Given the description of an element on the screen output the (x, y) to click on. 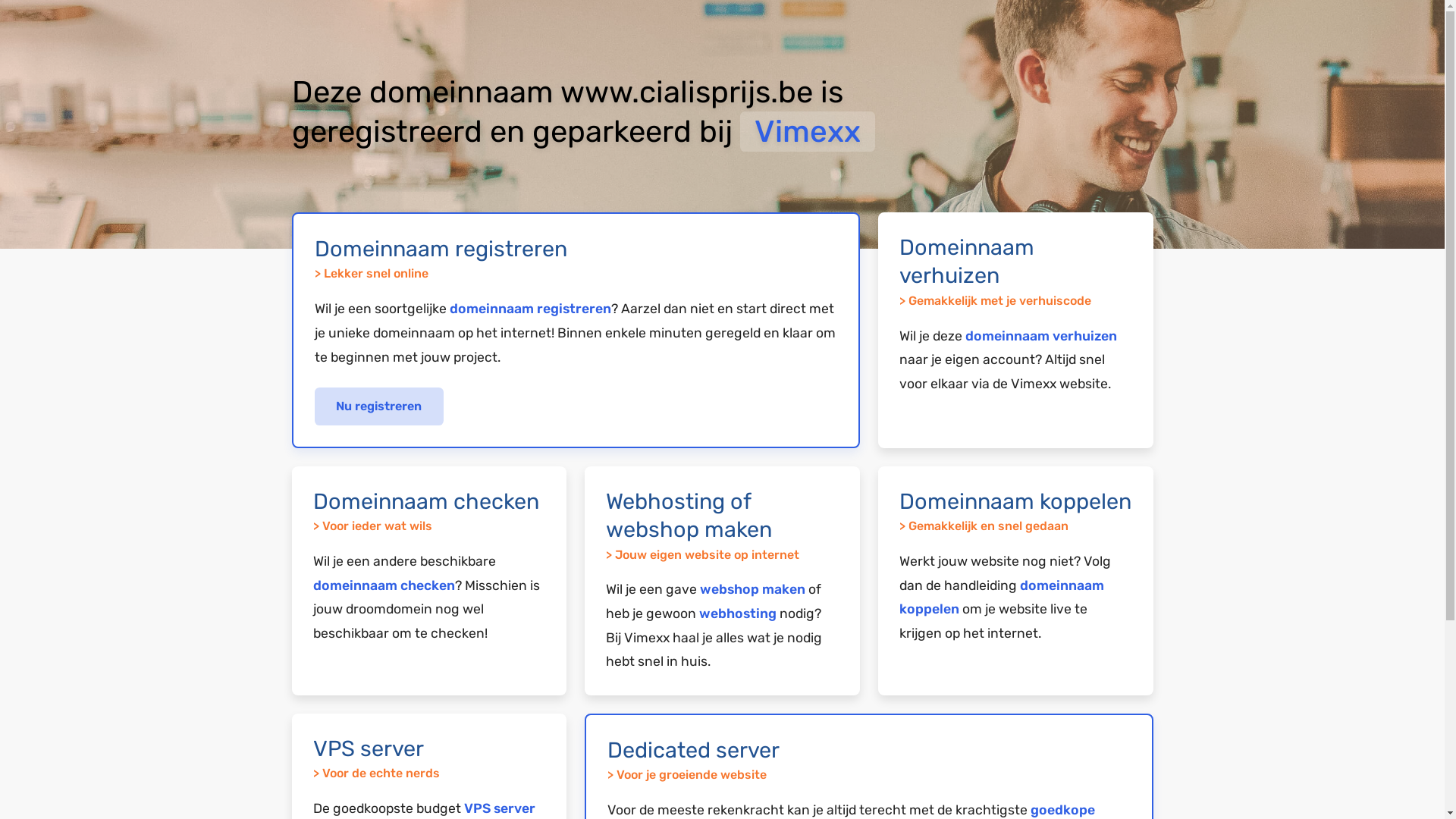
webshop maken Element type: text (752, 588)
domeinnaam koppelen Element type: text (1001, 597)
VPS server Element type: text (499, 807)
Vimexx Element type: text (807, 131)
webhosting Element type: text (737, 613)
domeinnaam registreren Element type: text (529, 308)
domeinnaam verhuizen Element type: text (1041, 335)
Nu registreren Element type: text (378, 406)
domeinnaam checken Element type: text (383, 585)
